Given the description of an element on the screen output the (x, y) to click on. 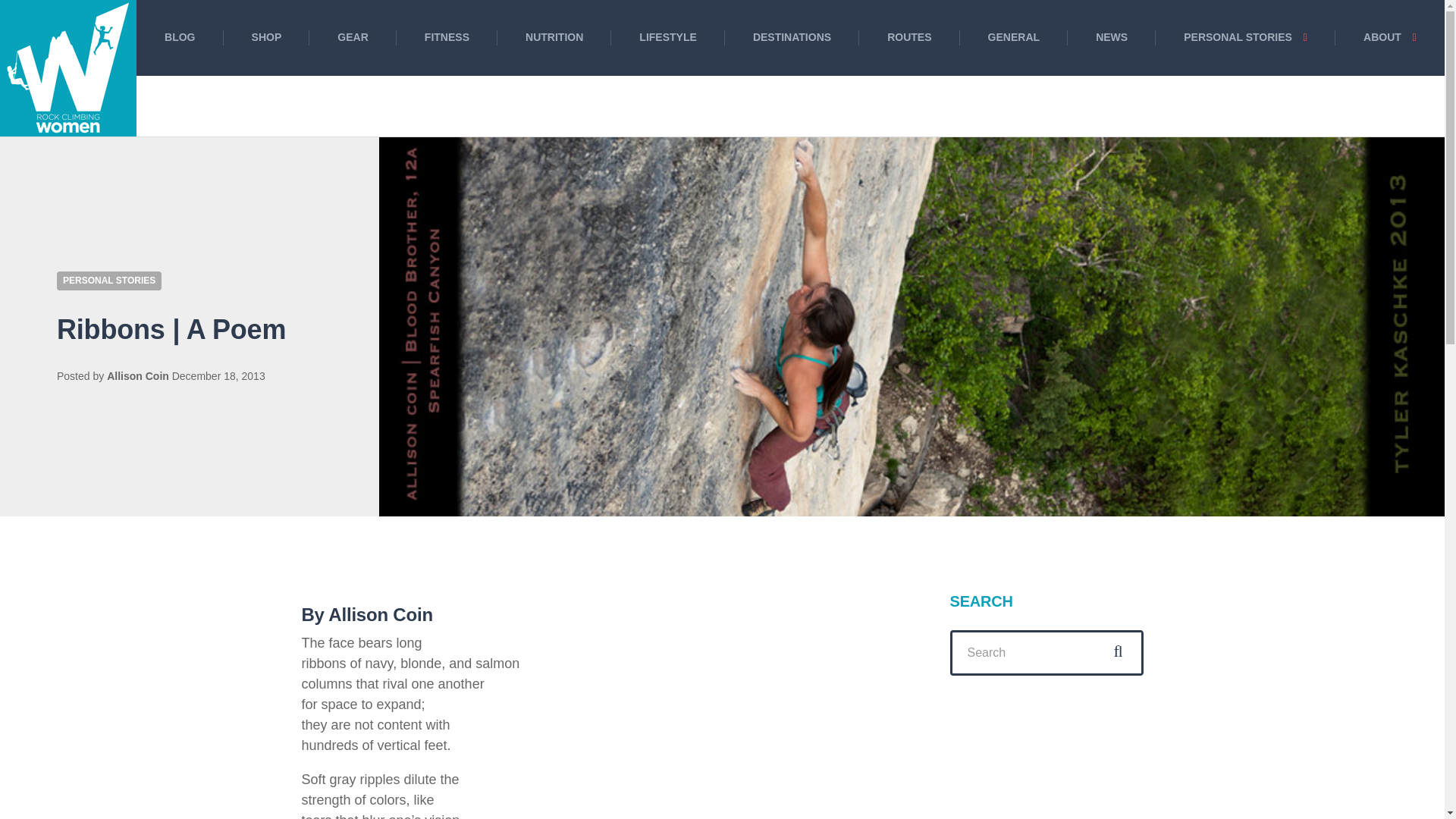
Posted by Allison Coin (137, 376)
PERSONAL STORIES (1245, 38)
BLOG (180, 38)
DESTINATIONS (792, 38)
GENERAL (1013, 38)
GEAR (352, 38)
ROUTES (909, 38)
FITNESS (446, 38)
Allison Coin (137, 376)
SHOP (267, 38)
NEWS (1111, 38)
PERSONAL STORIES (108, 280)
LIFESTYLE (668, 38)
NUTRITION (554, 38)
